Given the description of an element on the screen output the (x, y) to click on. 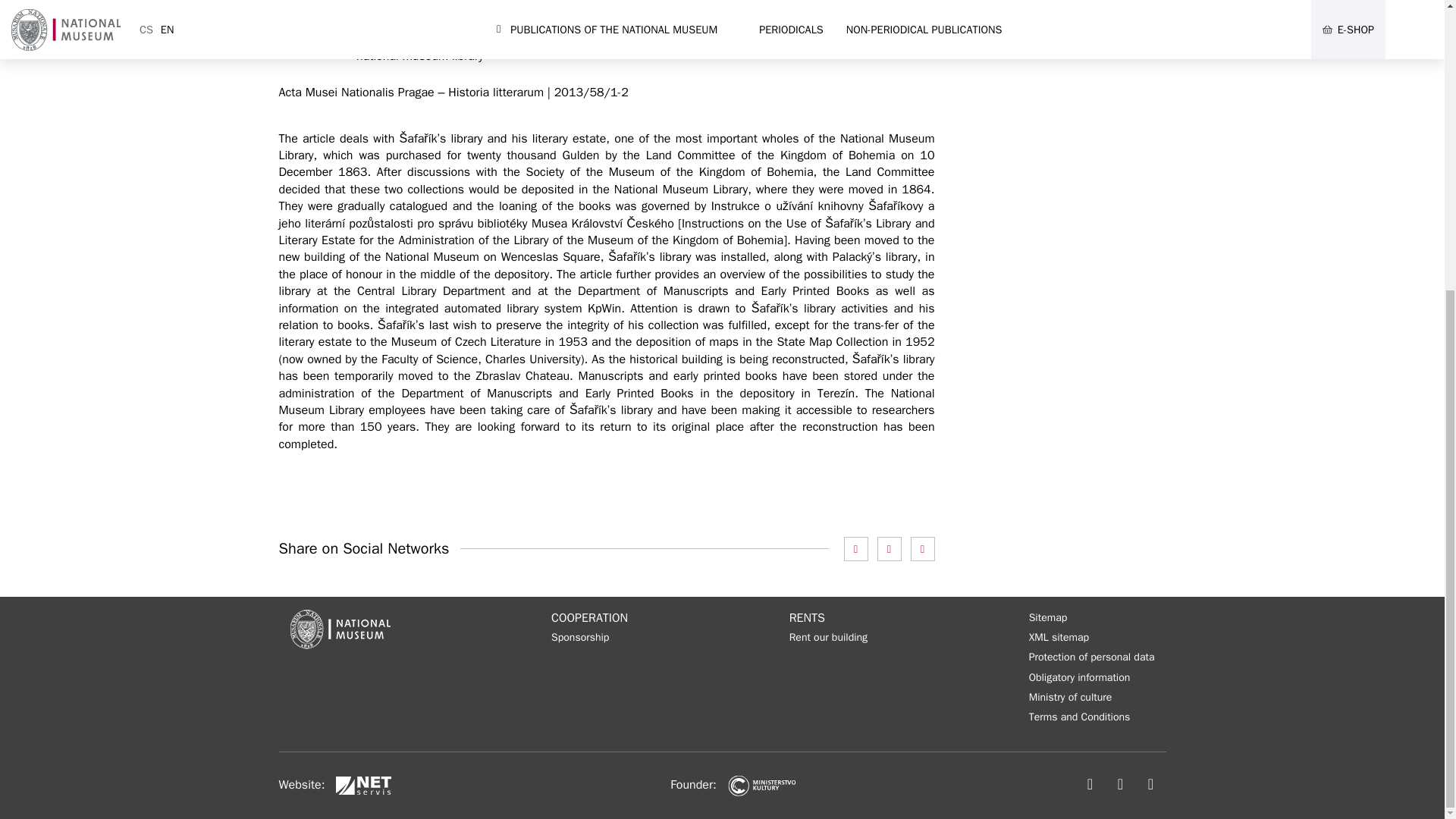
RENTS (828, 617)
Sponsorship (579, 637)
XML sitemap (1059, 637)
Protection of personal data (1091, 657)
Obligatory information (1080, 677)
Rent our building (828, 637)
Terms and Conditions (1080, 717)
Ministry of culture (1070, 697)
Full Text of the Article (369, 485)
COOPERATION (589, 617)
Sitemap (1048, 617)
